Given the description of an element on the screen output the (x, y) to click on. 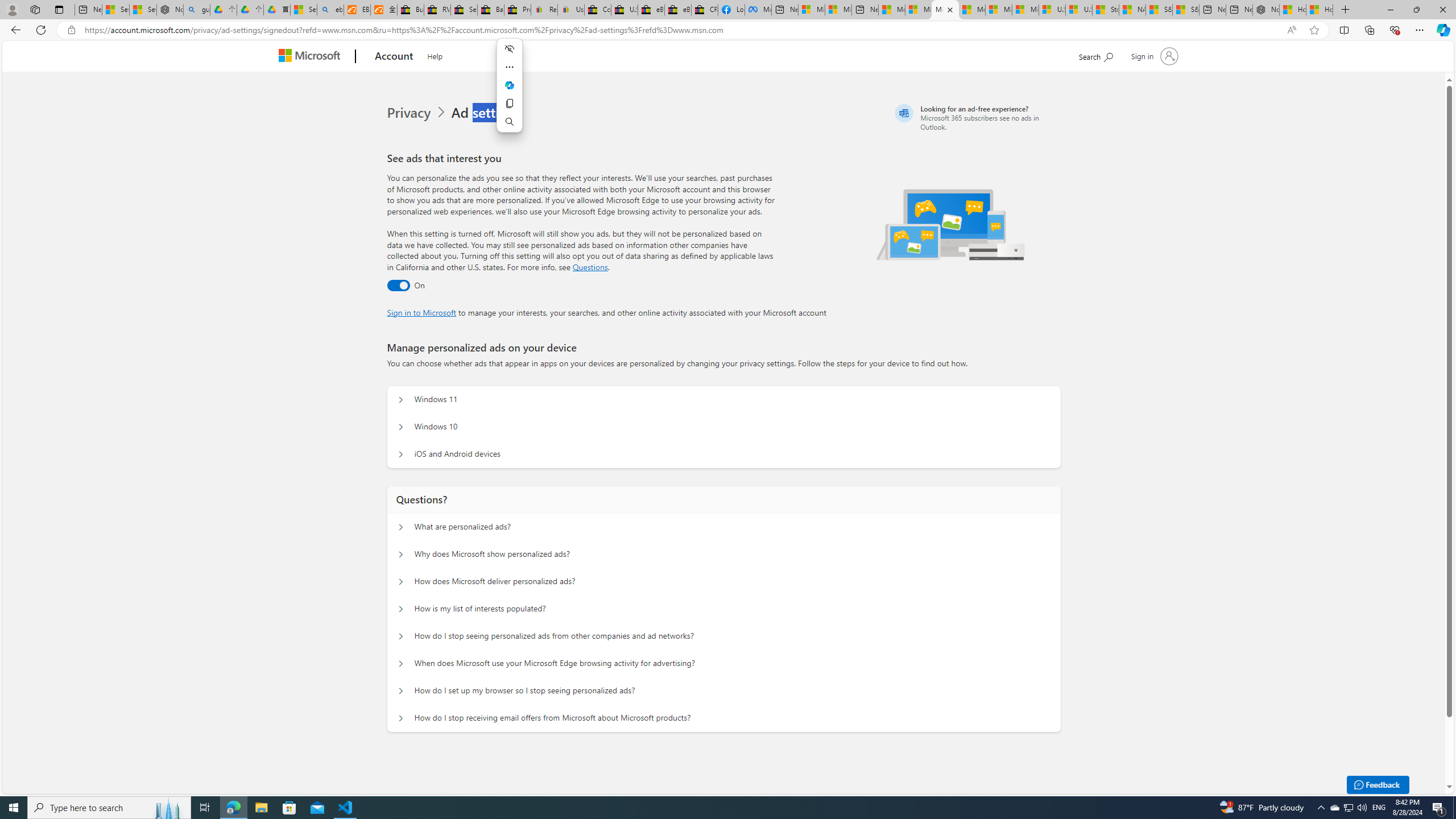
RV, Trailer & Camper Steps & Ladders for sale | eBay (437, 9)
Search Microsoft.com (1095, 54)
Questions? What are personalized ads? (401, 526)
How to Use a Monitor With Your Closed Laptop (1319, 9)
Microsoft (311, 56)
Looking for an ad-free experience? (976, 117)
